Given the description of an element on the screen output the (x, y) to click on. 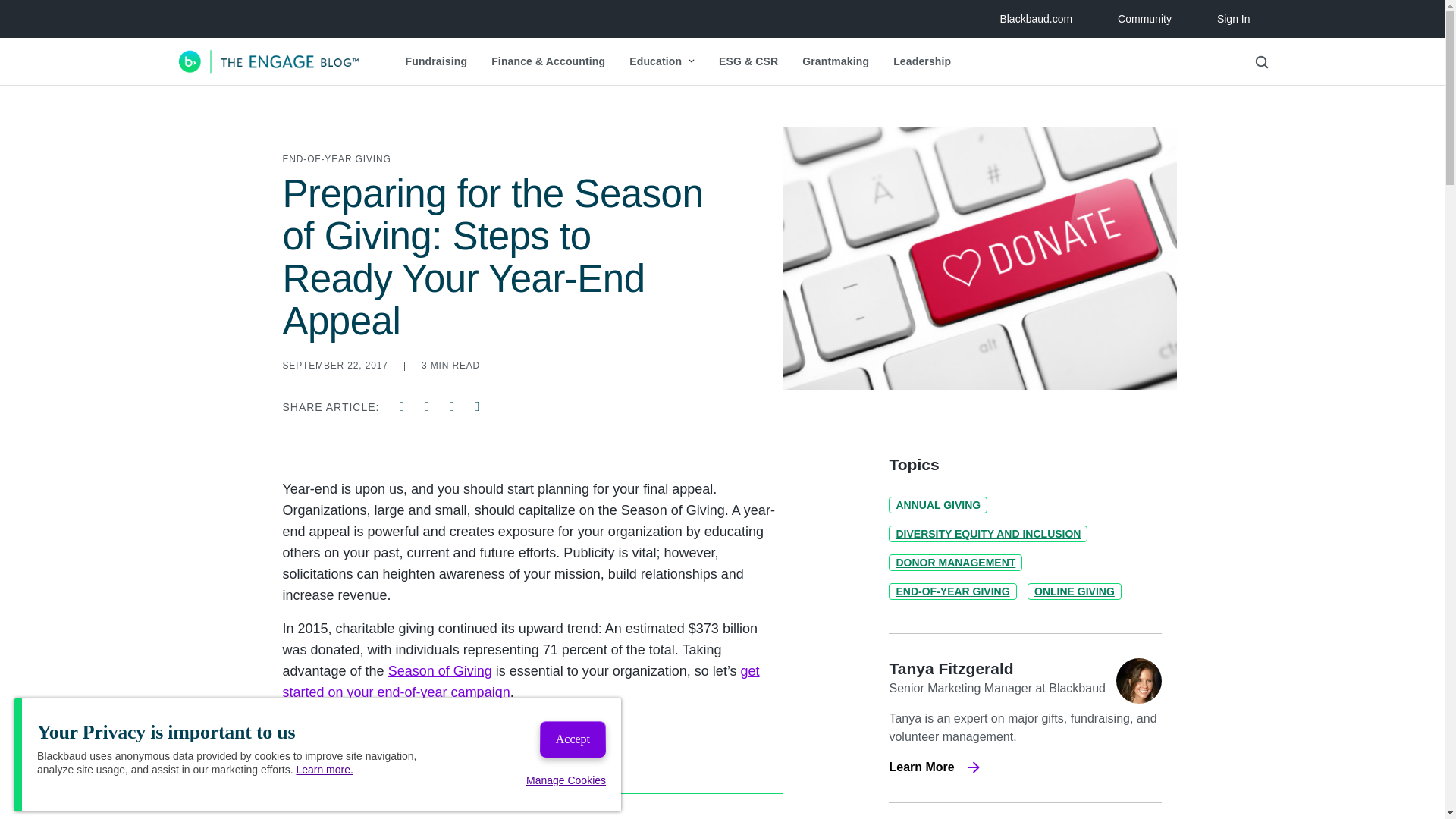
DIVERSITY EQUITY AND INCLUSION (987, 533)
get started on your end-of-year campaign (520, 681)
Blackbaud.com (1035, 18)
Grantmaking (835, 61)
Community (1144, 18)
Fundraising (435, 61)
Sign In (1233, 18)
Season of Giving (440, 670)
Search (1117, 101)
Sign In (1233, 18)
Grantmaking (835, 61)
DONOR MANAGEMENT (955, 562)
Fundraising (435, 61)
Education (661, 61)
ANNUAL GIVING (937, 504)
